Given the description of an element on the screen output the (x, y) to click on. 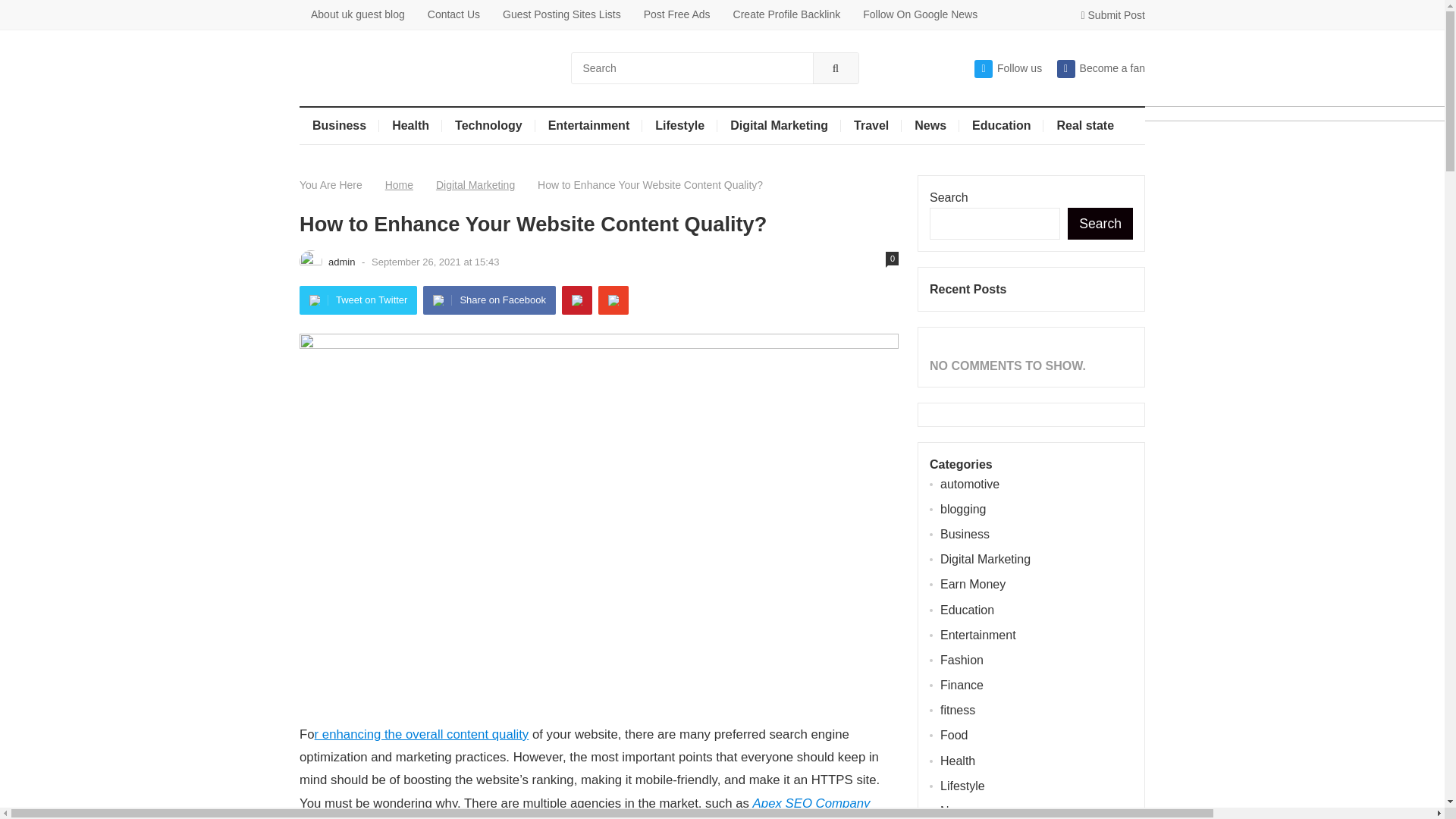
Technology (488, 125)
News (930, 125)
Real state (1084, 125)
View all posts in Digital Marketing (465, 184)
Become a fan (1100, 68)
Lifestyle (679, 125)
Submit Post (1113, 15)
Become a fan (1100, 68)
Guest Posting Sites Lists (561, 14)
Digital Marketing (779, 125)
Contact Us (454, 14)
Follow us (1008, 68)
Create Profile Backlink (786, 14)
Health (410, 125)
Entertainment (589, 125)
